Given the description of an element on the screen output the (x, y) to click on. 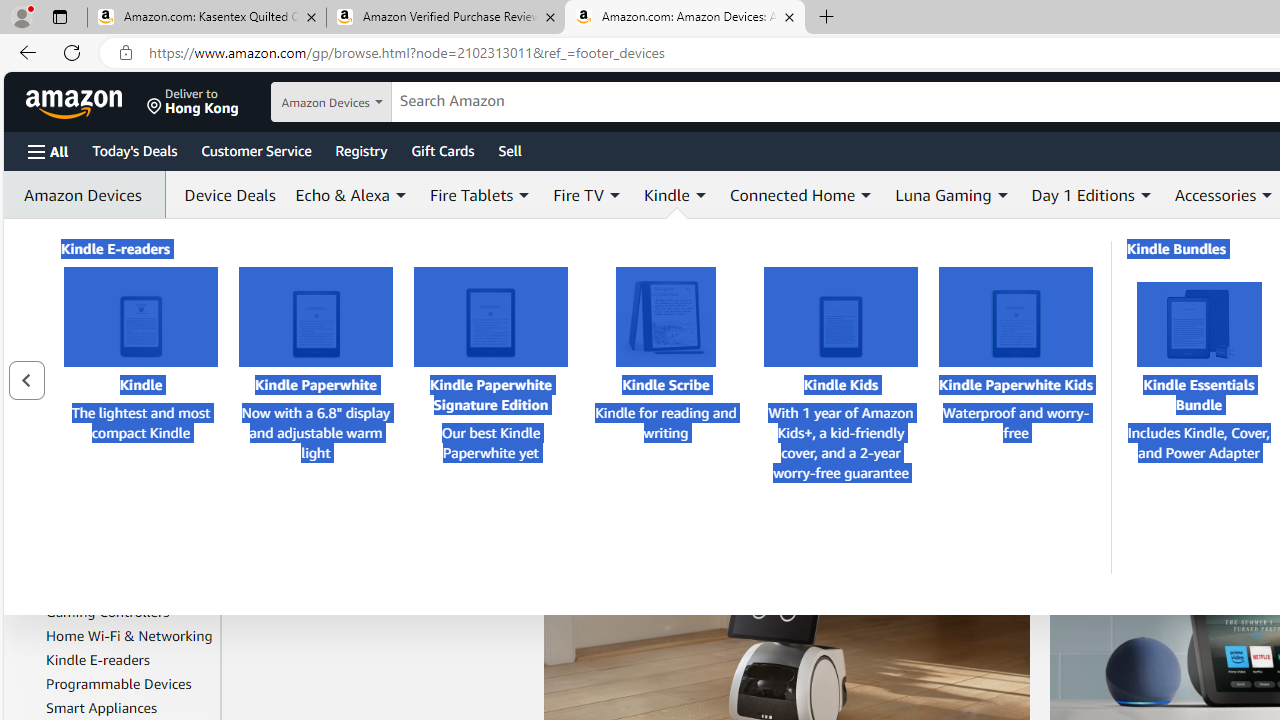
Kindle E-readersKindleThe lightest and most compact Kindle (141, 416)
Expand Kindle (700, 195)
Search in (371, 102)
Fire Tablets (129, 588)
Deliver to Hong Kong (193, 101)
Expand Day 1 Editions (1145, 195)
Last 90 days (117, 295)
Programmable Devices (129, 683)
Kindle Essentials Bundle (1199, 324)
Watch now (770, 367)
Home Wi-Fi & Networking (129, 635)
Kindle ScribeKindle for reading and writing (666, 416)
Astro Robots (129, 452)
